Given the description of an element on the screen output the (x, y) to click on. 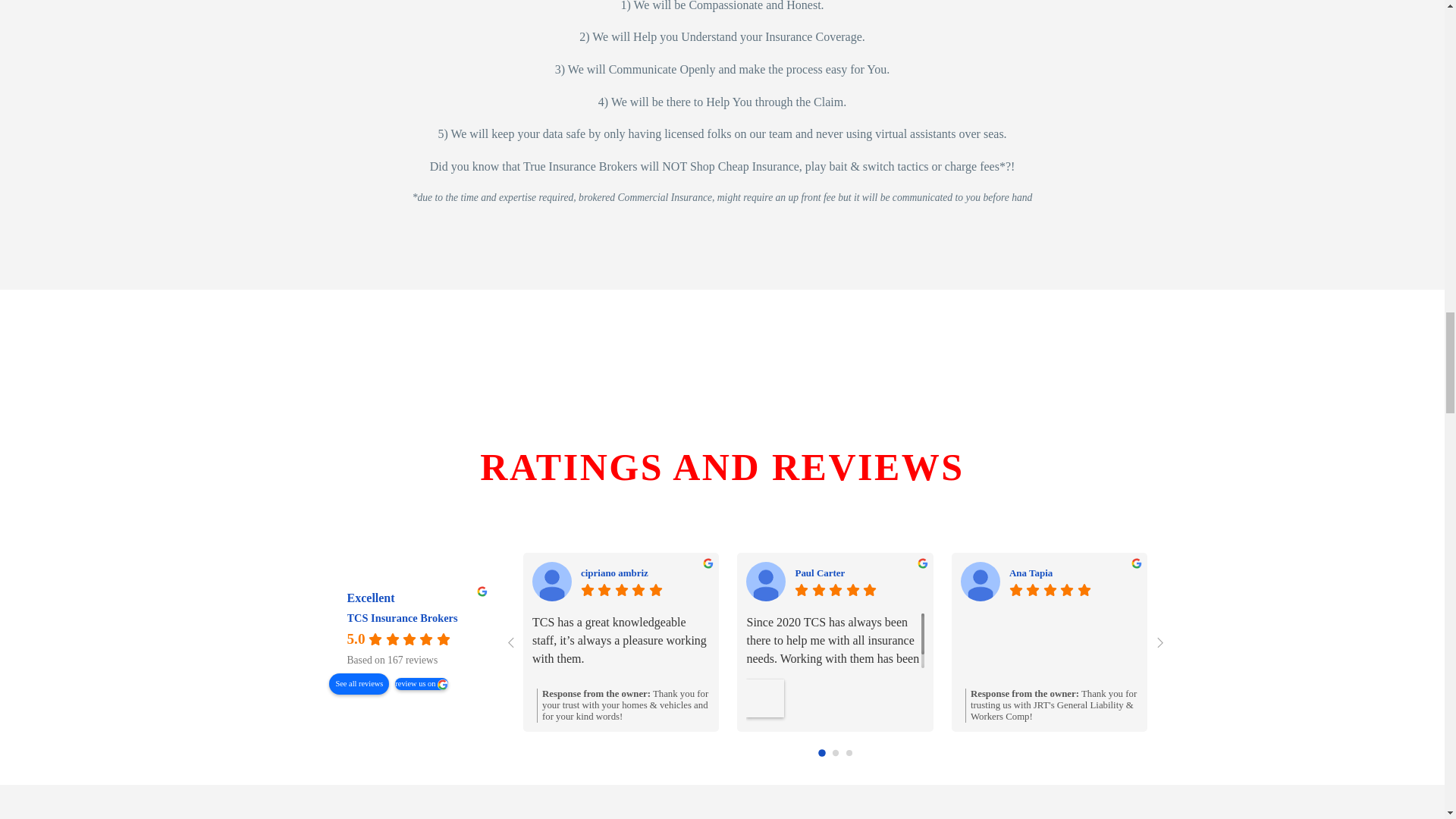
cipriano ambriz (645, 572)
TCS Insurance Brokers (318, 628)
Ana Tapia (1073, 572)
Ana Tapia (980, 581)
cipriano ambriz (552, 581)
Paul Carter (765, 581)
Lucia Lopez (1194, 581)
Would definitely recommend to anyone. Excellent service!! (1263, 648)
Paul Carter (858, 572)
